Given the description of an element on the screen output the (x, y) to click on. 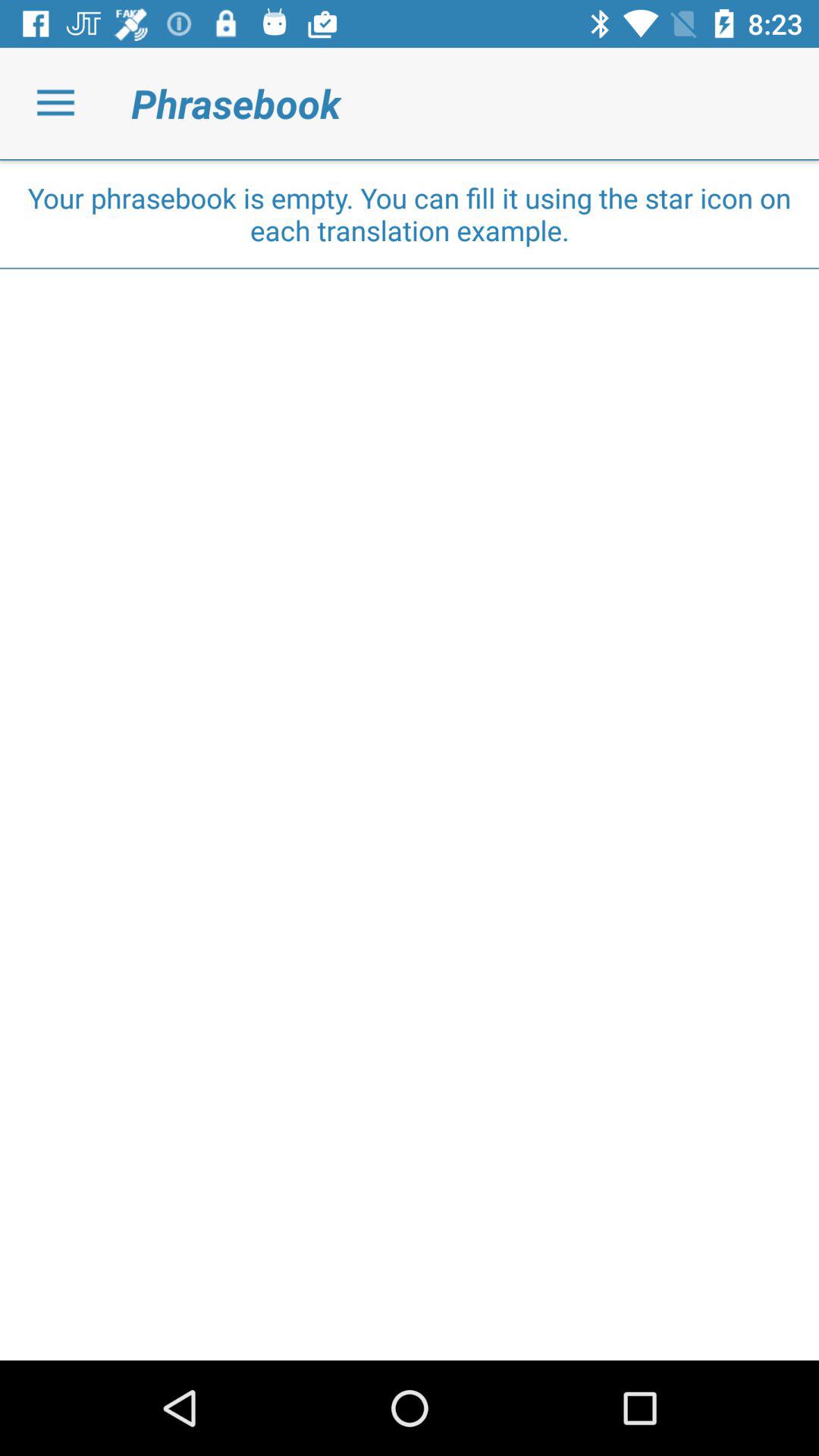
select item below your phrasebook is icon (409, 268)
